Given the description of an element on the screen output the (x, y) to click on. 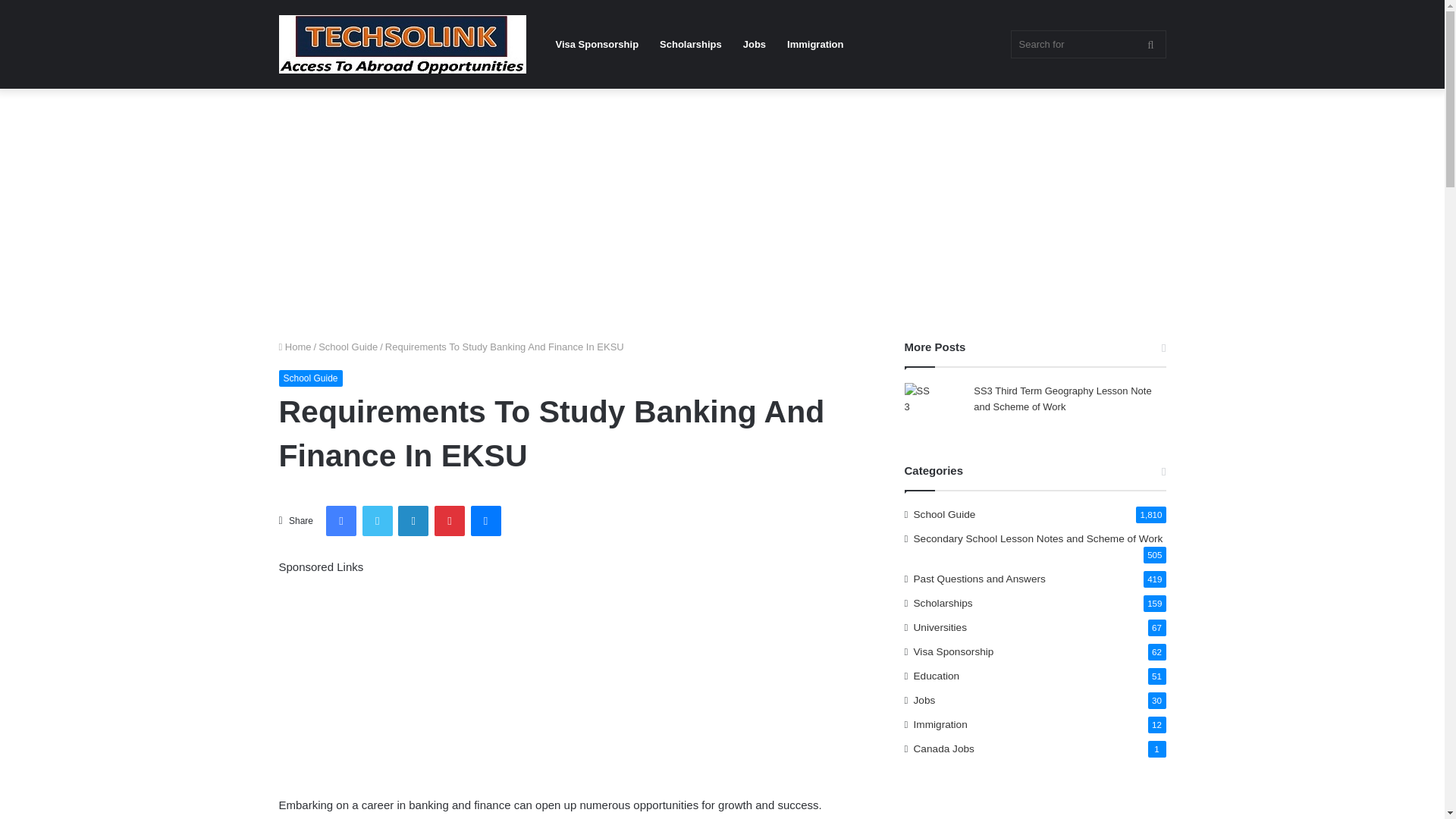
Facebook (341, 521)
Twitter (377, 521)
Twitter (377, 521)
Messenger (485, 521)
Visa Sponsorship (596, 44)
Home (295, 346)
LinkedIn (412, 521)
Facebook (341, 521)
Messenger (485, 521)
School Guide (347, 346)
